Given the description of an element on the screen output the (x, y) to click on. 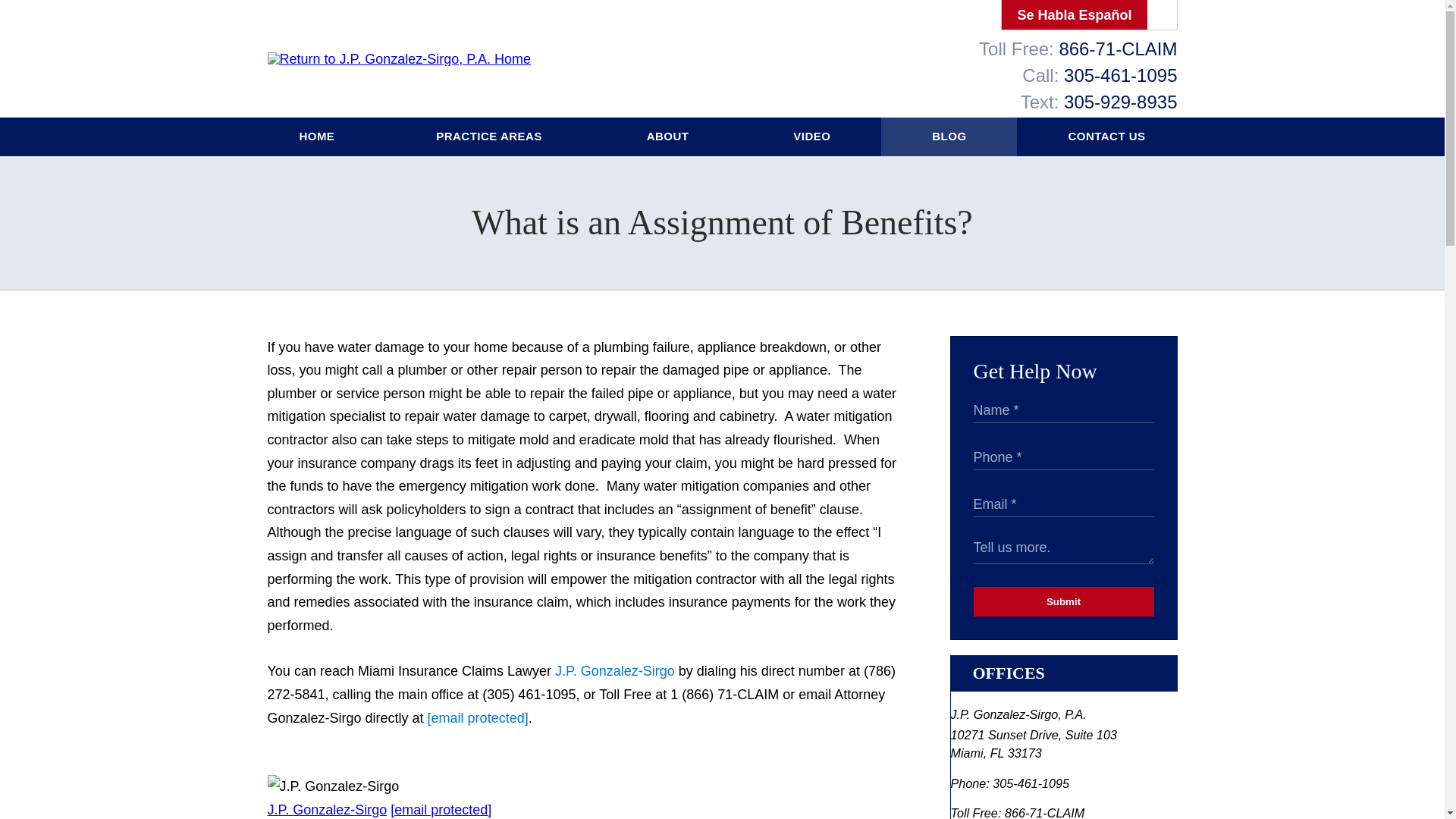
VIDEO (811, 136)
866-71-CLAIM (1117, 48)
Search (1161, 15)
J.P. Gonzalez-Sirgo (326, 809)
PRACTICE AREAS (490, 136)
ABOUT (668, 136)
305-461-1095 (1120, 75)
CONTACT US (1105, 136)
BLOG (948, 136)
HOME (316, 136)
J.P. Gonzalez-Sirgo (614, 670)
305-929-8935 (1120, 101)
